Given the description of an element on the screen output the (x, y) to click on. 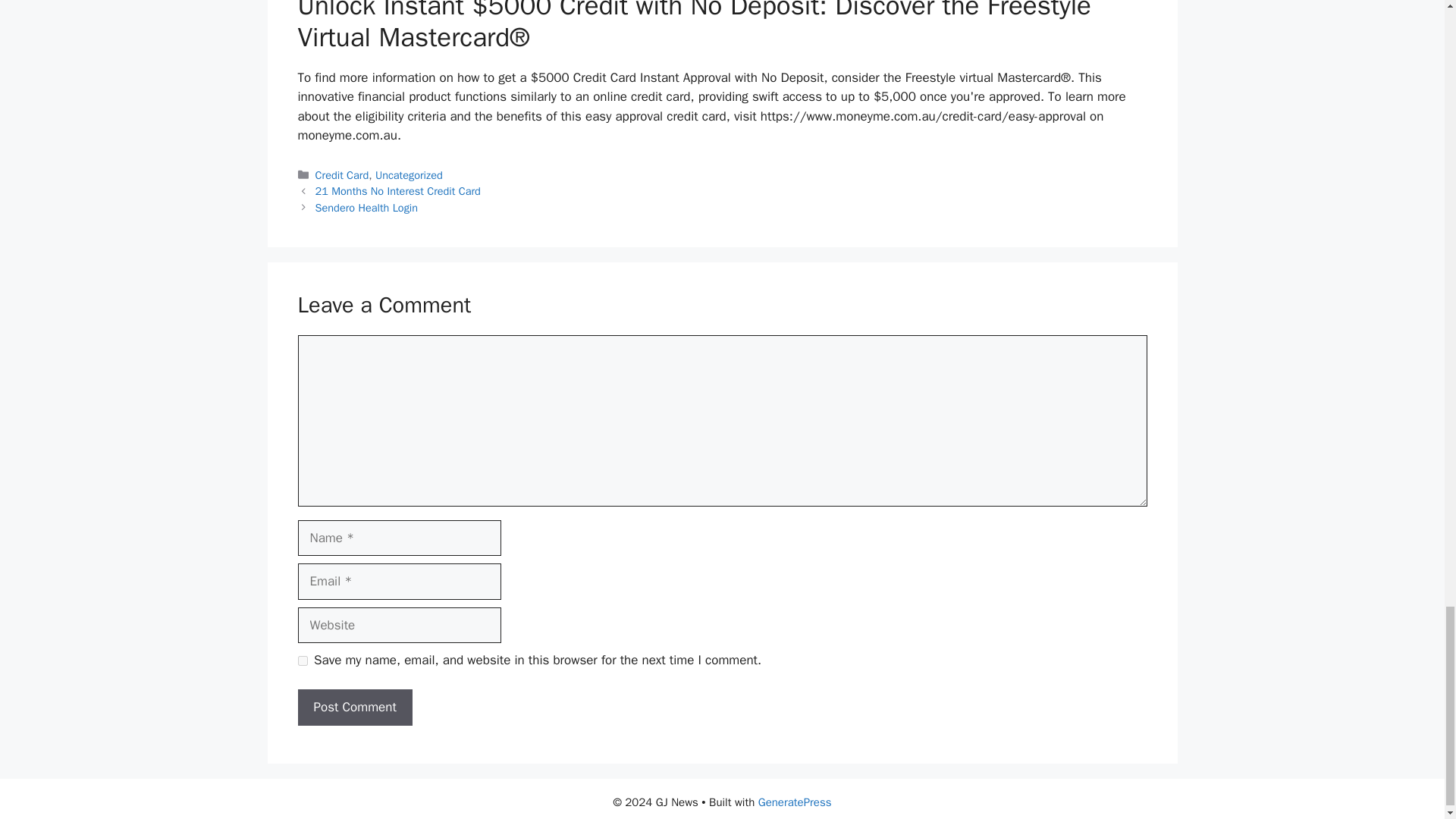
yes (302, 660)
Post Comment (354, 707)
21 Months No Interest Credit Card (397, 191)
Uncategorized (408, 174)
GeneratePress (794, 802)
Sendero Health Login (367, 207)
Post Comment (354, 707)
Credit Card (342, 174)
